Given the description of an element on the screen output the (x, y) to click on. 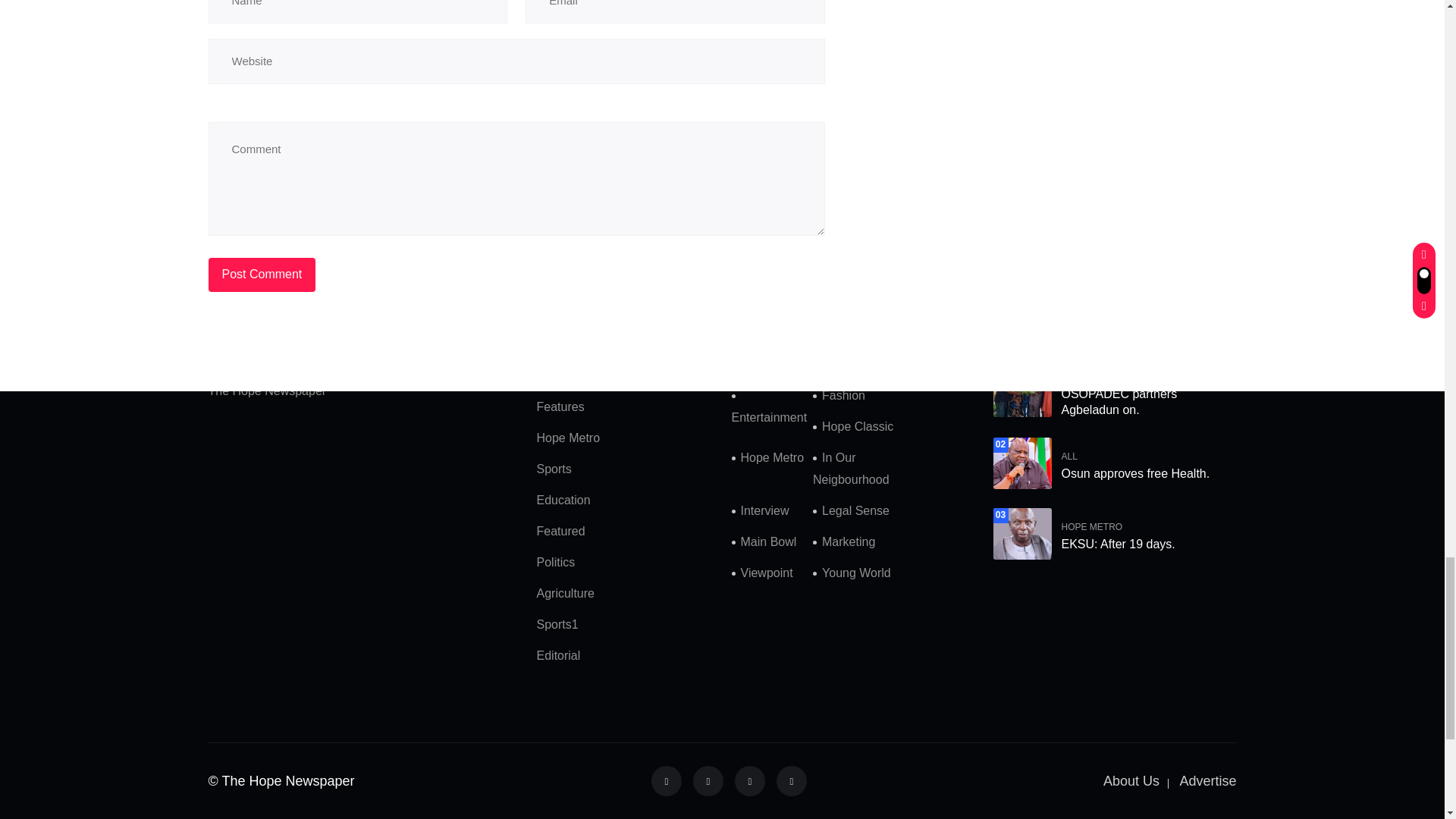
Post Comment (261, 274)
